Given the description of an element on the screen output the (x, y) to click on. 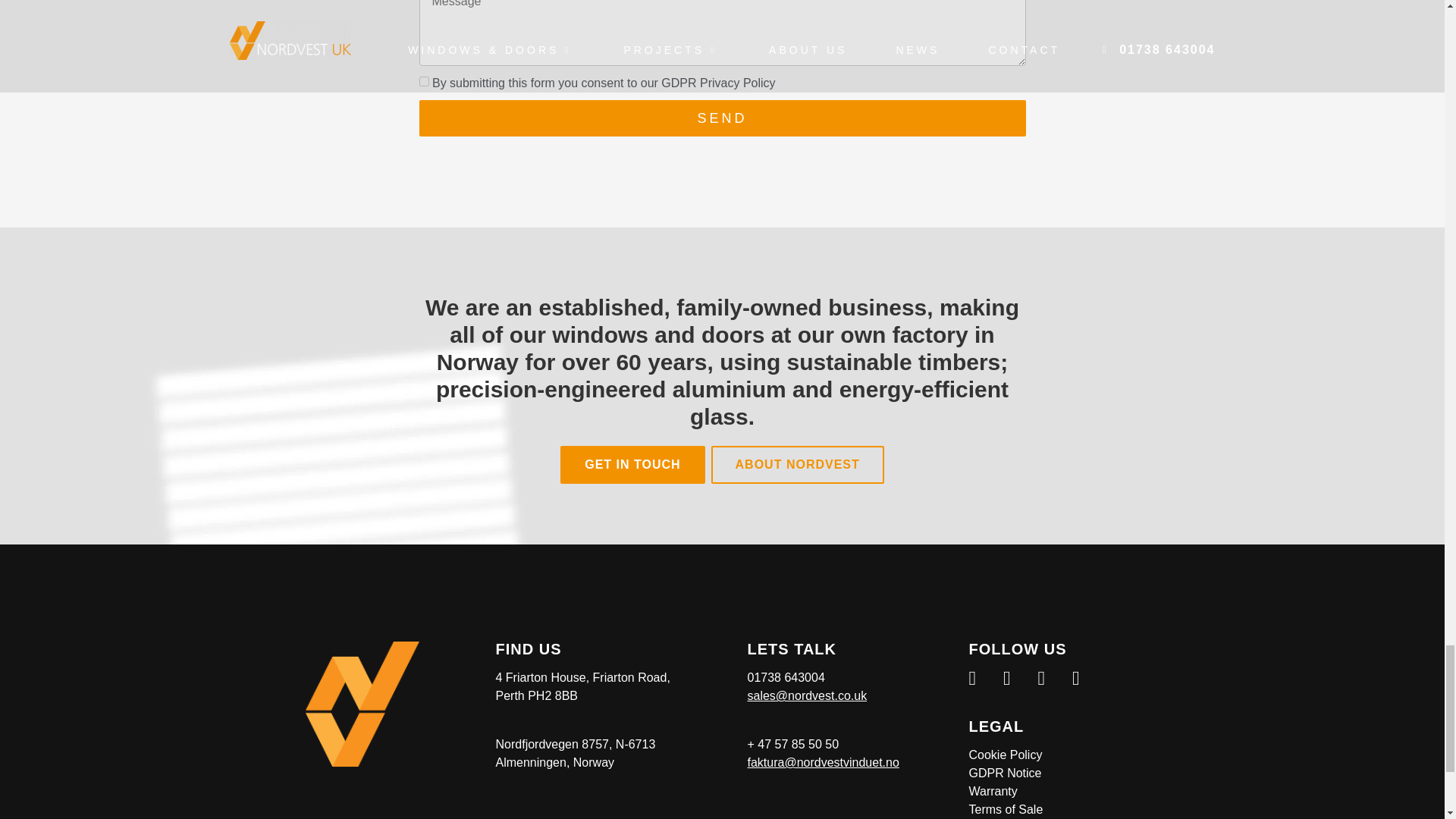
on (423, 81)
